Given the description of an element on the screen output the (x, y) to click on. 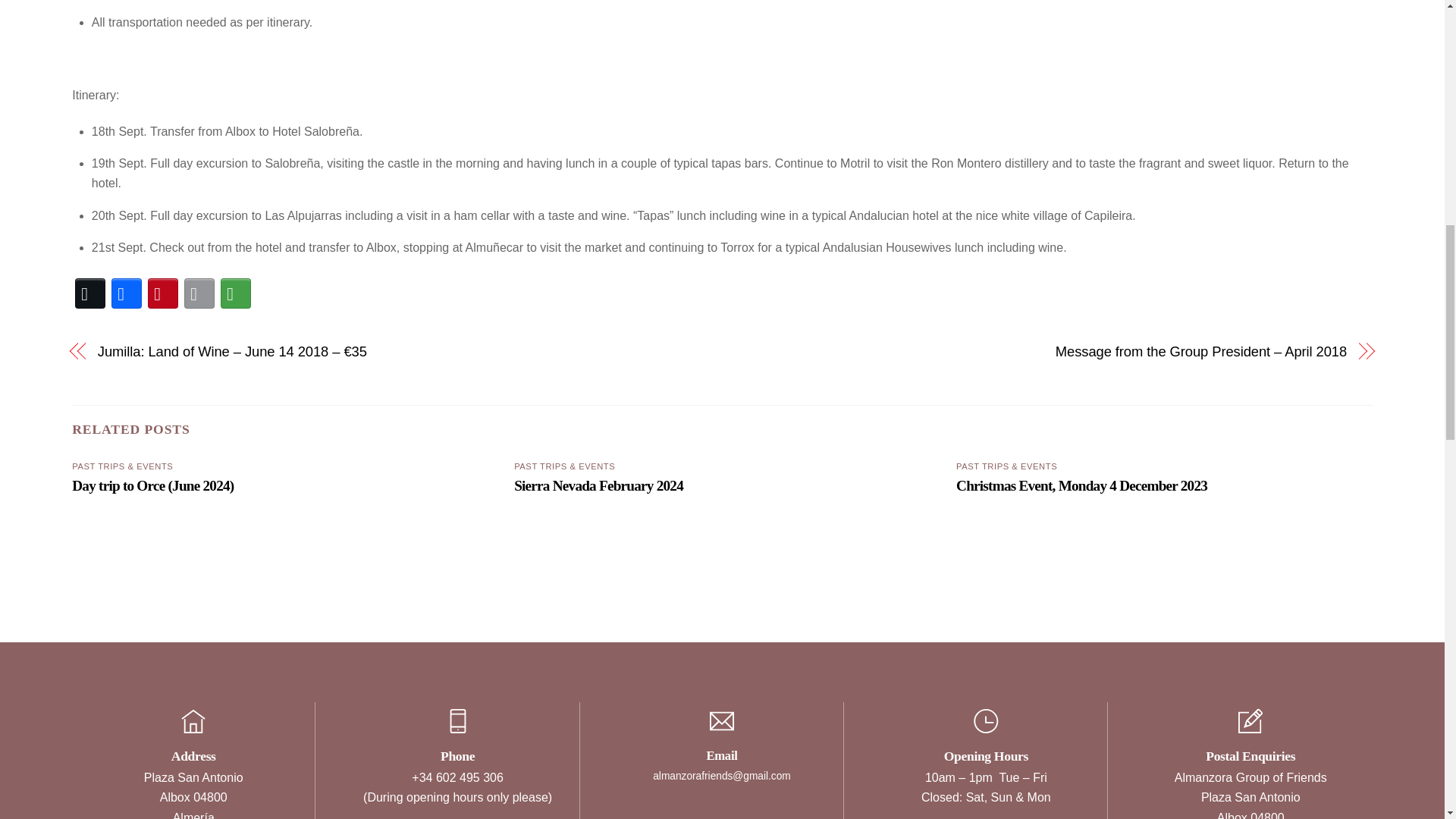
More Options (234, 293)
Christmas Event, Monday 4 December 2023 (1081, 485)
Facebook (125, 293)
Email This (198, 293)
Sierra Nevada February 2024 (597, 485)
Pinterest (162, 293)
